Given the description of an element on the screen output the (x, y) to click on. 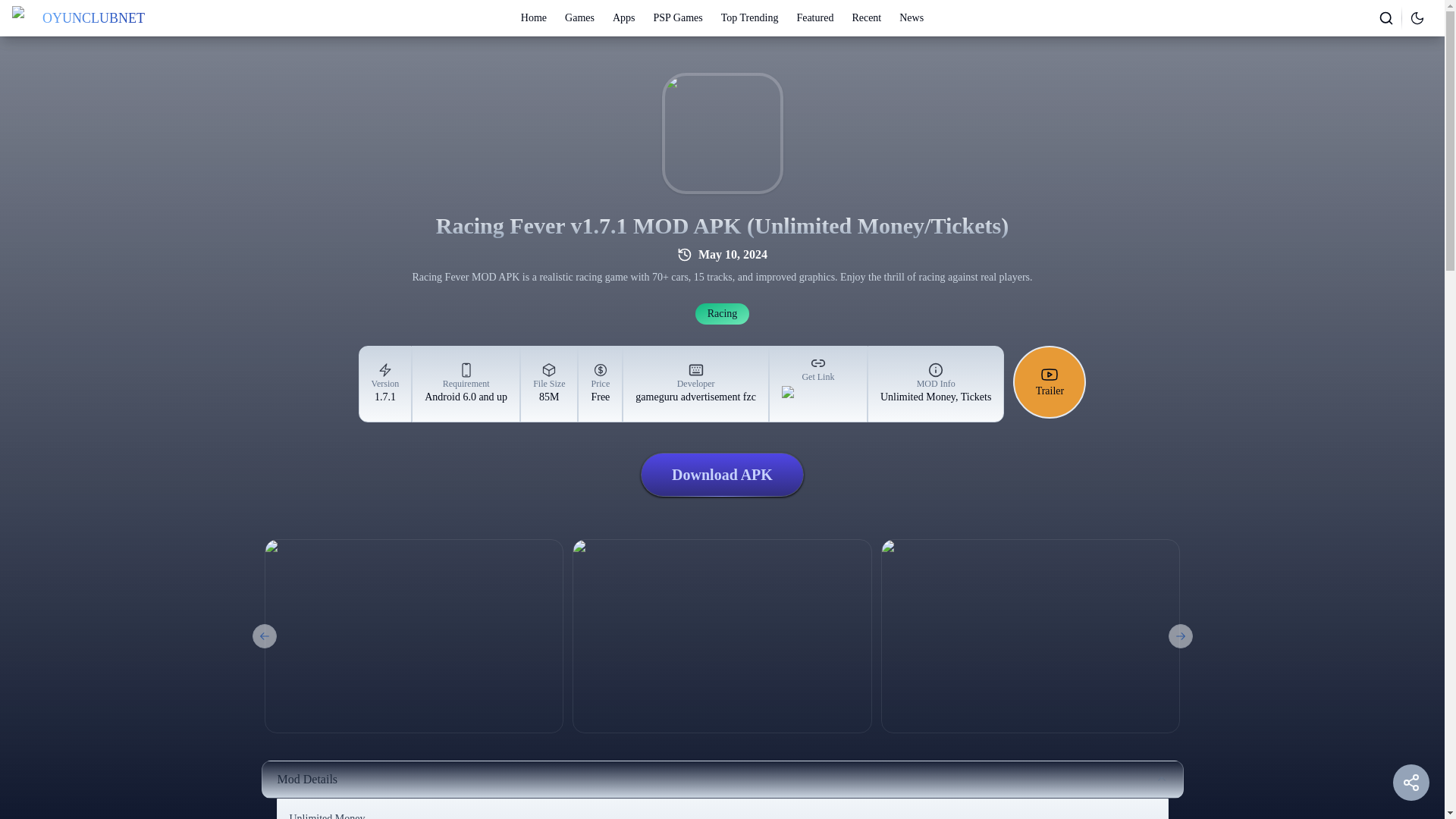
Previous slide (263, 636)
Download APK (721, 474)
News (911, 17)
Home (534, 17)
Games (579, 17)
OYUNCLUBNET (77, 17)
PSP Games (678, 17)
Recent (865, 17)
Apps (623, 17)
Search (1385, 17)
racing (722, 313)
Racing (722, 313)
Mod Details (721, 779)
Next slide (1179, 636)
Featured (814, 17)
